Given the description of an element on the screen output the (x, y) to click on. 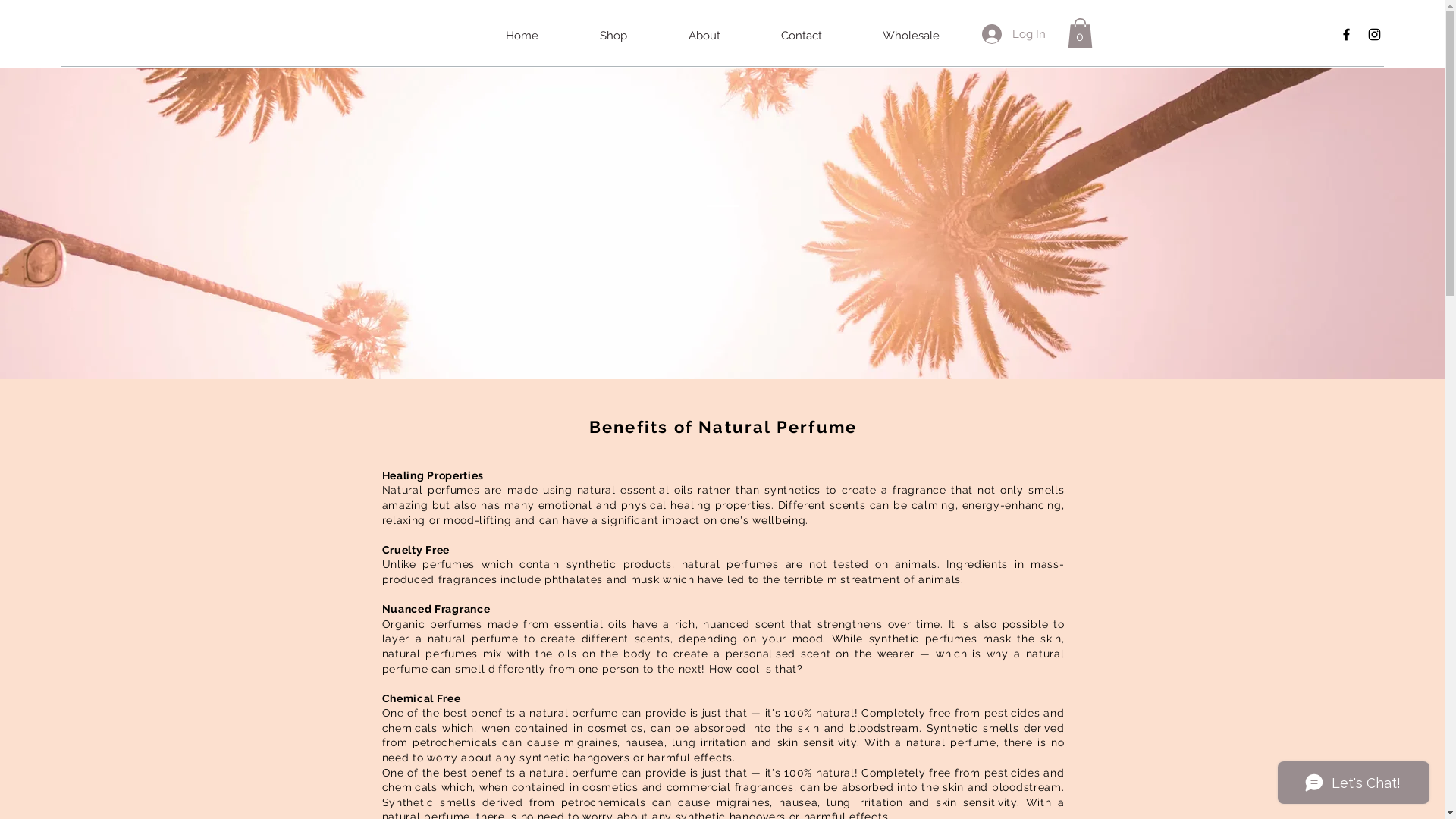
Shop Element type: text (612, 35)
About Element type: text (704, 35)
0 Element type: text (1079, 32)
Contact Element type: text (801, 35)
Wholesale Element type: text (910, 35)
Home Element type: text (521, 35)
Log In Element type: text (1012, 33)
